Given the description of an element on the screen output the (x, y) to click on. 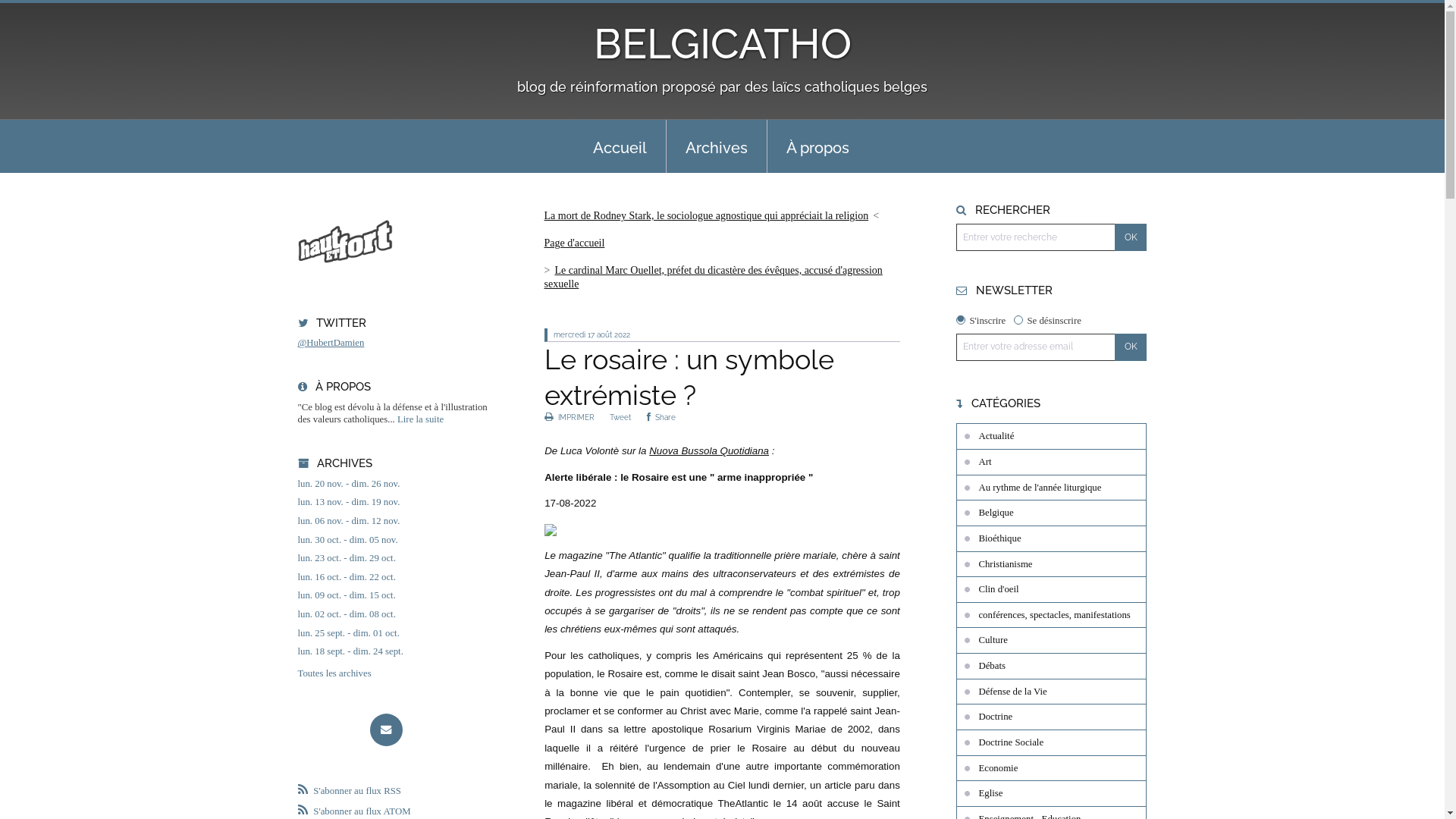
S'abonner au flux ATOM Element type: text (353, 811)
Doctrine Element type: text (1051, 716)
Archives Element type: text (716, 145)
BELGICATHO Element type: text (721, 43)
Doctrine Sociale Element type: text (1051, 742)
Christianisme Element type: text (1051, 564)
Share Element type: text (661, 416)
lun. 20 nov. - dim. 26 nov. Element type: text (392, 483)
lun. 09 oct. - dim. 15 oct. Element type: text (392, 595)
lun. 25 sept. - dim. 01 oct. Element type: text (392, 633)
Culture Element type: text (1051, 639)
lun. 23 oct. - dim. 29 oct. Element type: text (392, 558)
Art Element type: text (1051, 461)
lun. 02 oct. - dim. 08 oct. Element type: text (392, 614)
IMPRIMER Element type: text (569, 416)
OK Element type: text (1130, 237)
Economie Element type: text (1051, 768)
lun. 13 nov. - dim. 19 nov. Element type: text (392, 501)
Page d'accueil Element type: text (574, 242)
Nuova Bussola Quotidiana Element type: text (708, 450)
Accueil Element type: text (619, 145)
Clin d'oeil Element type: text (1051, 589)
Email Element type: hover (386, 729)
@HubertDamien Element type: text (330, 342)
OK Element type: text (1130, 346)
lun. 18 sept. - dim. 24 sept. Element type: text (392, 651)
Belgique Element type: text (1051, 512)
Eglise Element type: text (1051, 793)
Lire la suite Element type: text (420, 419)
lun. 06 nov. - dim. 12 nov. Element type: text (392, 520)
Tweet Element type: text (619, 416)
S'abonner au flux RSS Element type: text (348, 790)
Toutes les archives Element type: text (392, 673)
lun. 30 oct. - dim. 05 nov. Element type: text (392, 539)
lun. 16 oct. - dim. 22 oct. Element type: text (392, 577)
